Given the description of an element on the screen output the (x, y) to click on. 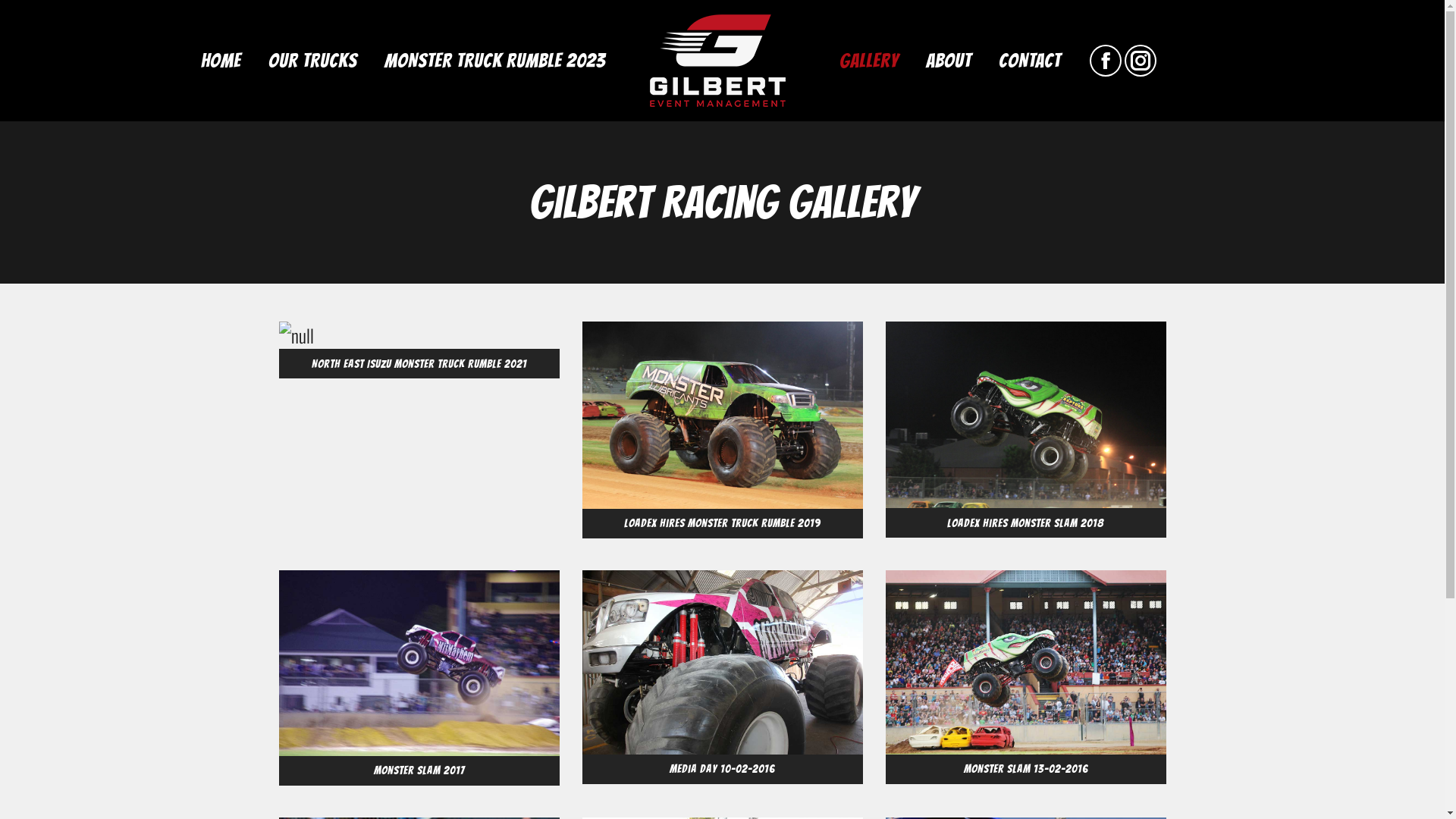
Facebook Element type: text (1104, 60)
GALLERY Element type: text (867, 60)
ABOUT Element type: text (947, 60)
OUR TRUCKS Element type: text (312, 60)
MONSTER TRUCK RUMBLE 2023 Element type: text (494, 60)
Instagram Element type: text (1139, 60)
CONTACT Element type: text (1028, 60)
HOME Element type: text (220, 60)
